Given the description of an element on the screen output the (x, y) to click on. 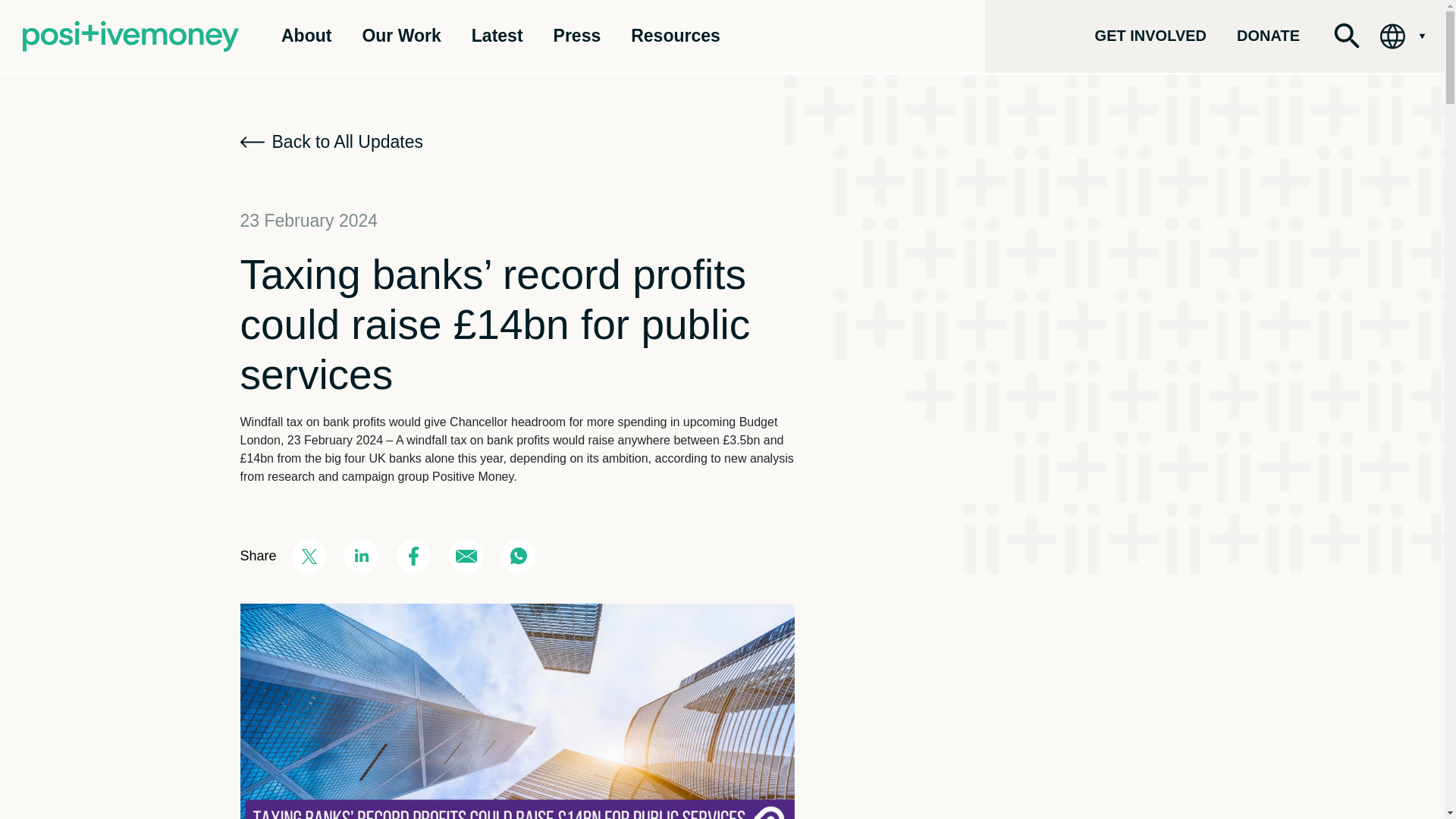
GET INVOLVED (1150, 35)
DONATE (1268, 35)
Our Work (401, 35)
Back to All Updates (331, 142)
